Given the description of an element on the screen output the (x, y) to click on. 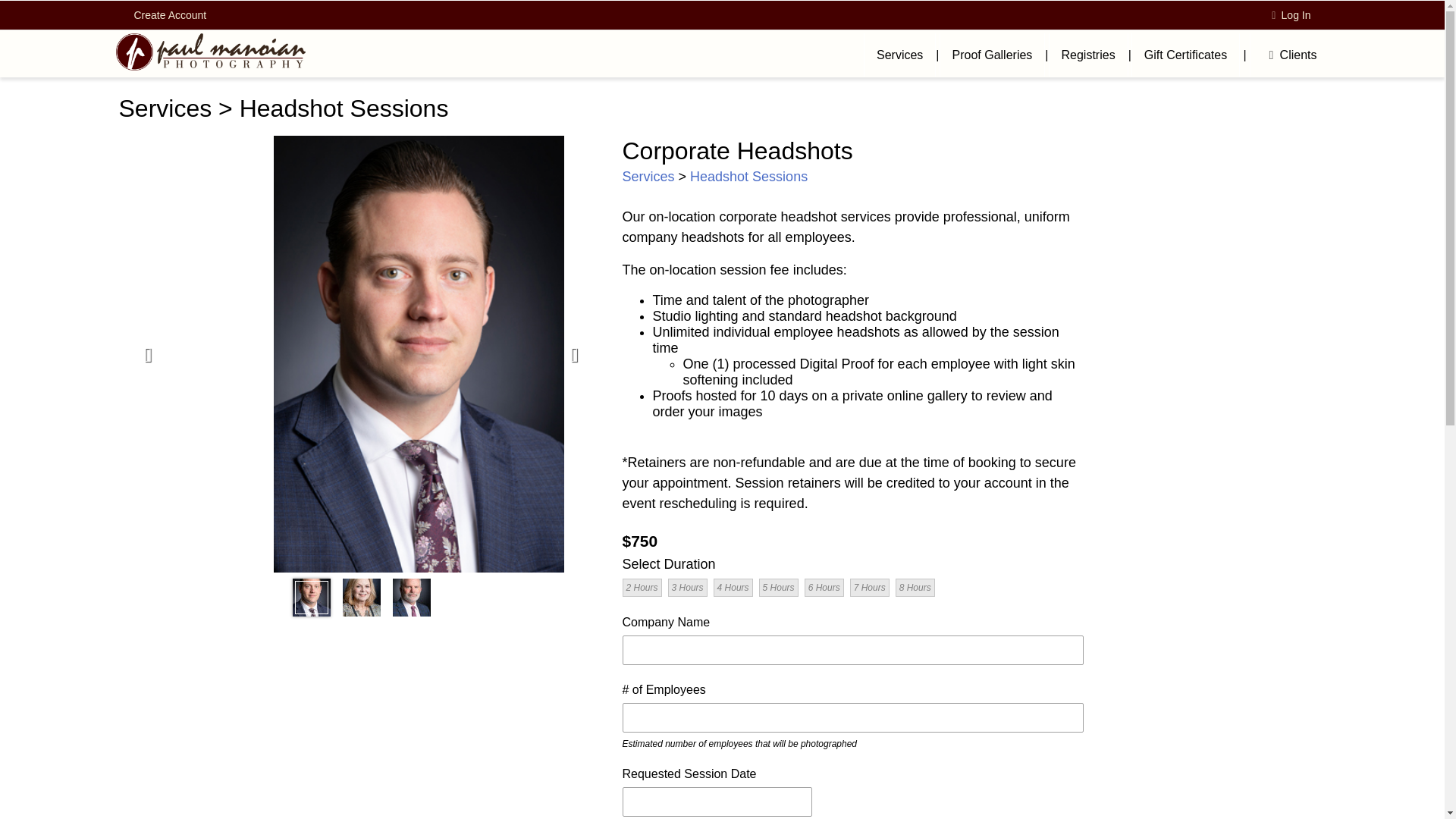
Services (164, 108)
Clients (1288, 54)
Registries (1087, 54)
Headshot Sessions (344, 108)
Proof Galleries (992, 54)
Headshot Sessions (749, 176)
Log In (1288, 15)
Create Account (169, 15)
Services (647, 176)
Gift Certificates (1185, 54)
